Given the description of an element on the screen output the (x, y) to click on. 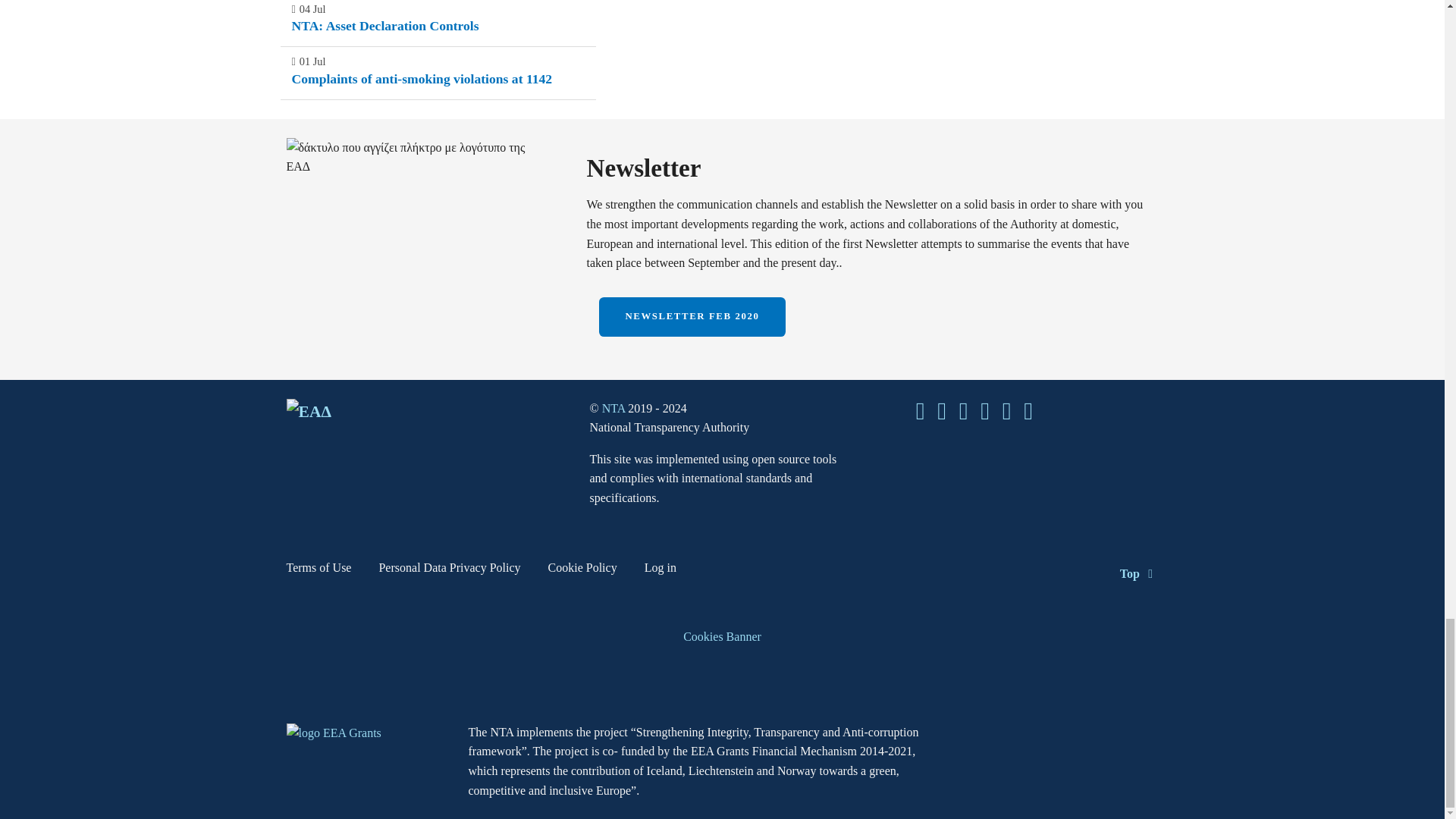
Back to top (1138, 573)
Cookie Policy (582, 570)
NTA (615, 408)
Personal Data Privacy Policy (448, 570)
Log in (661, 570)
 Terms of Use  (319, 570)
